Given the description of an element on the screen output the (x, y) to click on. 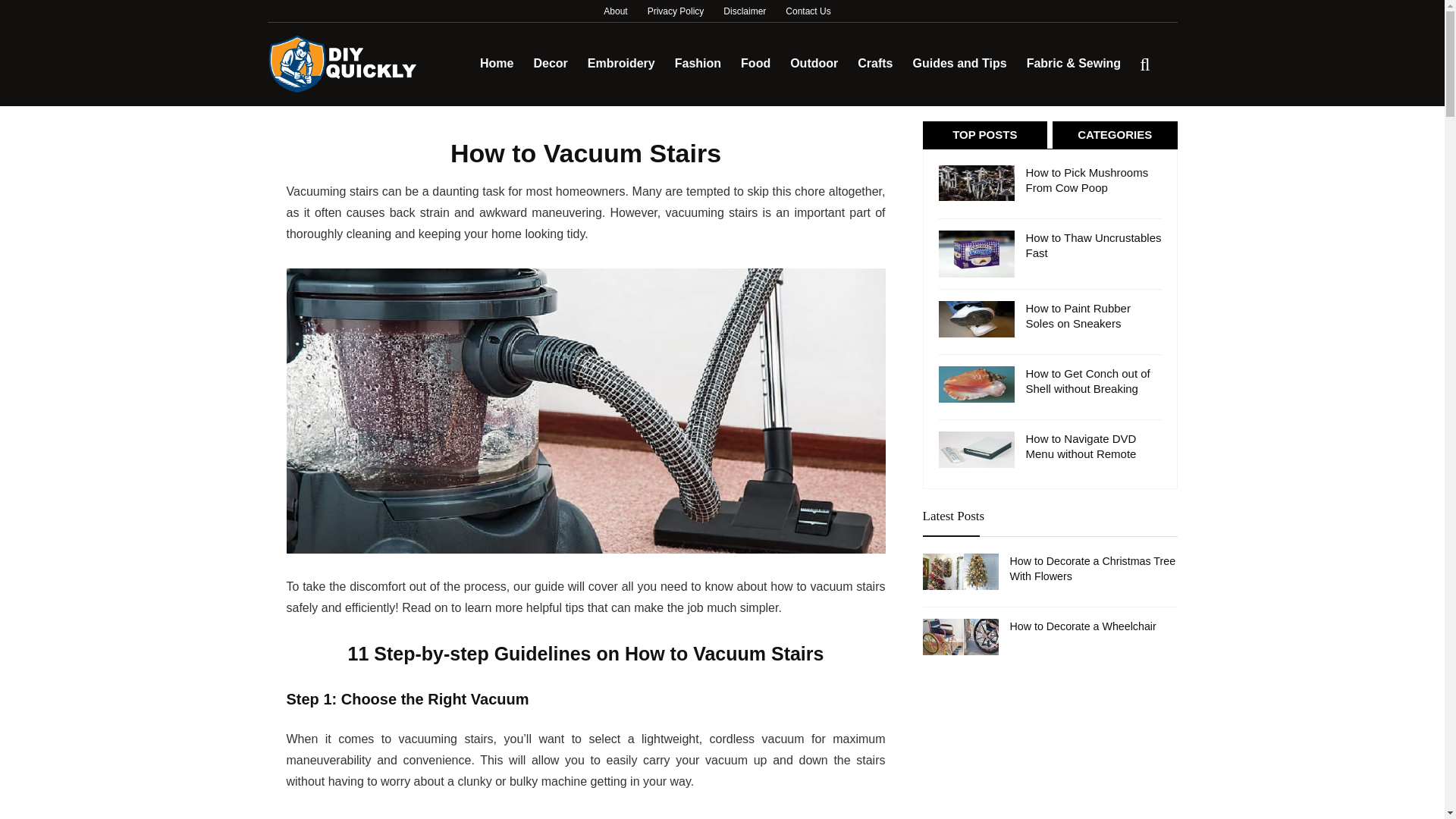
Decor (549, 63)
How to Get Conch out of Shell without Breaking (1087, 380)
Home (496, 63)
How to Pick Mushrooms From Cow Poop (1086, 180)
How to Thaw Uncrustables Fast (1092, 244)
How to Paint Rubber Soles on Sneakers (1077, 316)
Contact Us (807, 10)
Food (755, 63)
How to Navigate DVD Menu without Remote (1080, 446)
Fashion (697, 63)
Crafts (874, 63)
About (615, 10)
Privacy Policy (675, 10)
Disclaimer (744, 10)
Guides and Tips (959, 63)
